Given the description of an element on the screen output the (x, y) to click on. 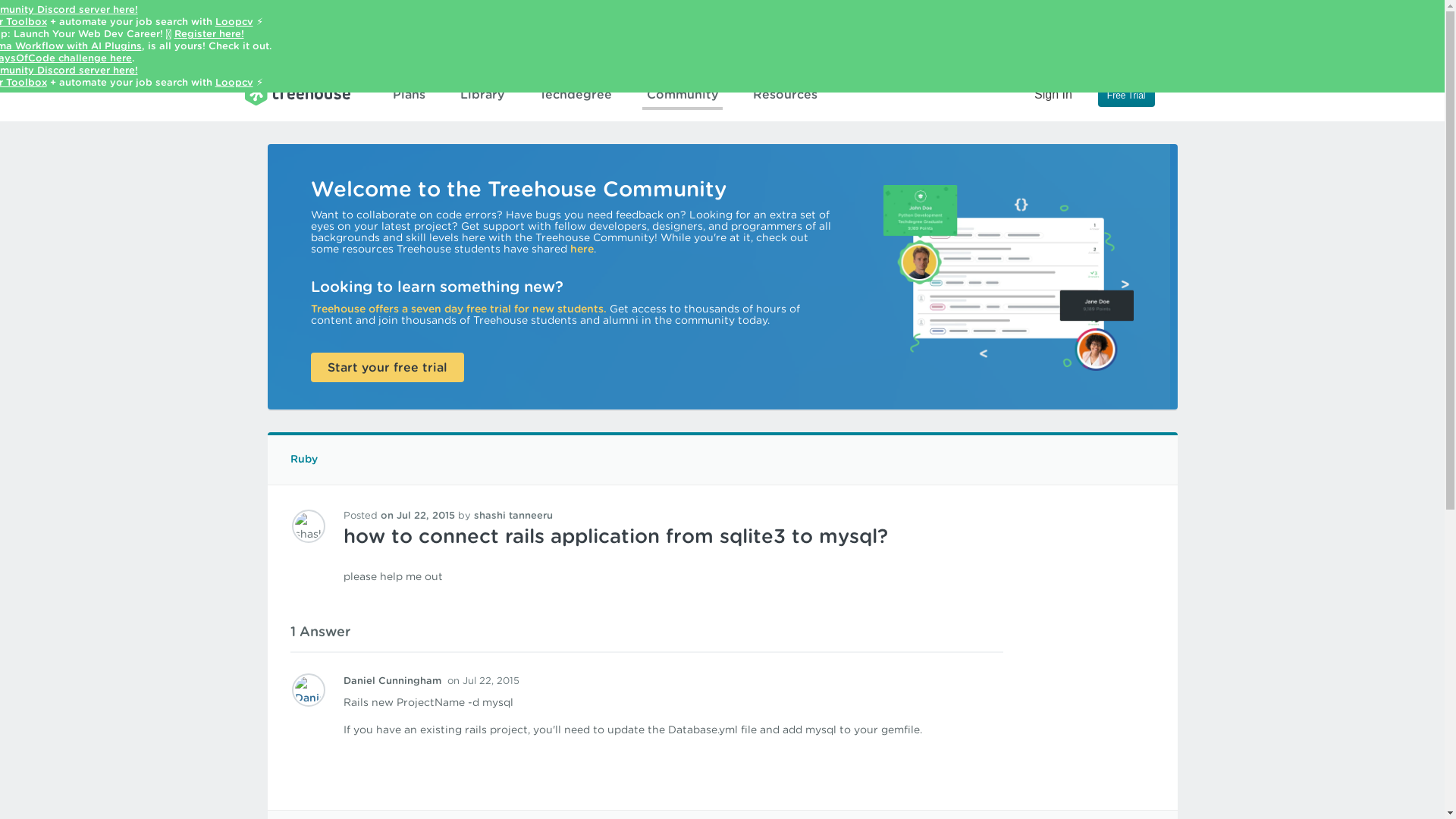
Register here! (209, 33)
July 22, 2015 at 12:45am  (417, 514)
July 22, 2015 at 3:59am  (482, 680)
Loopcv (234, 21)
Loopcv (234, 81)
Treehouse Logo (296, 93)
Join our free community Discord server here! (69, 9)
Supercharge Your Figma Workflow with AI Plugins (70, 45)
Plans (408, 94)
Join our free community Discord server here! (69, 70)
Treehouse Logo (296, 93)
Career Toolbox (23, 21)
Career Toolbox (23, 81)
